Given the description of an element on the screen output the (x, y) to click on. 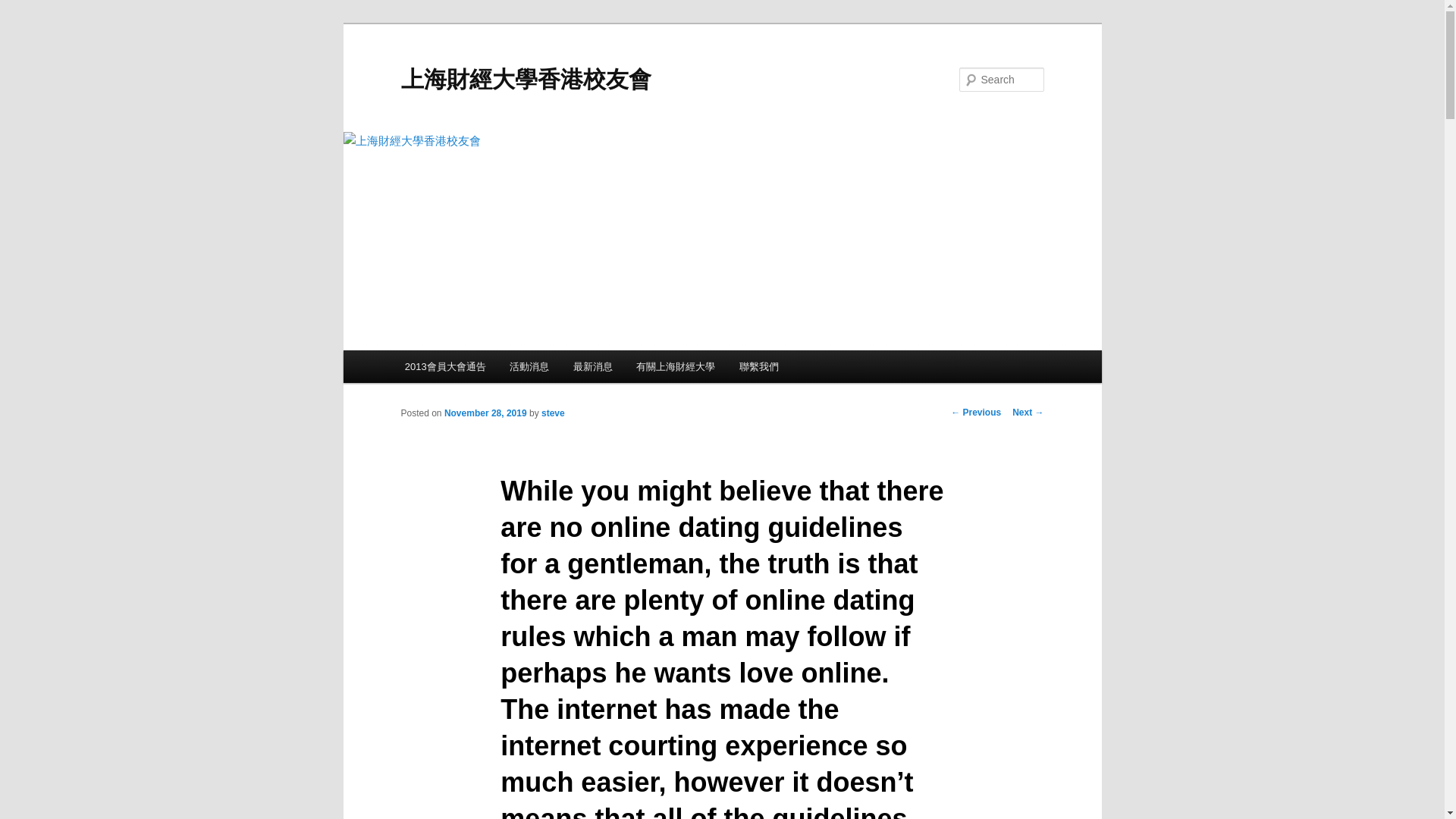
View all posts by steve (552, 412)
Search (24, 8)
steve (552, 412)
November 28, 2019 (485, 412)
8:00 am (485, 412)
